Given the description of an element on the screen output the (x, y) to click on. 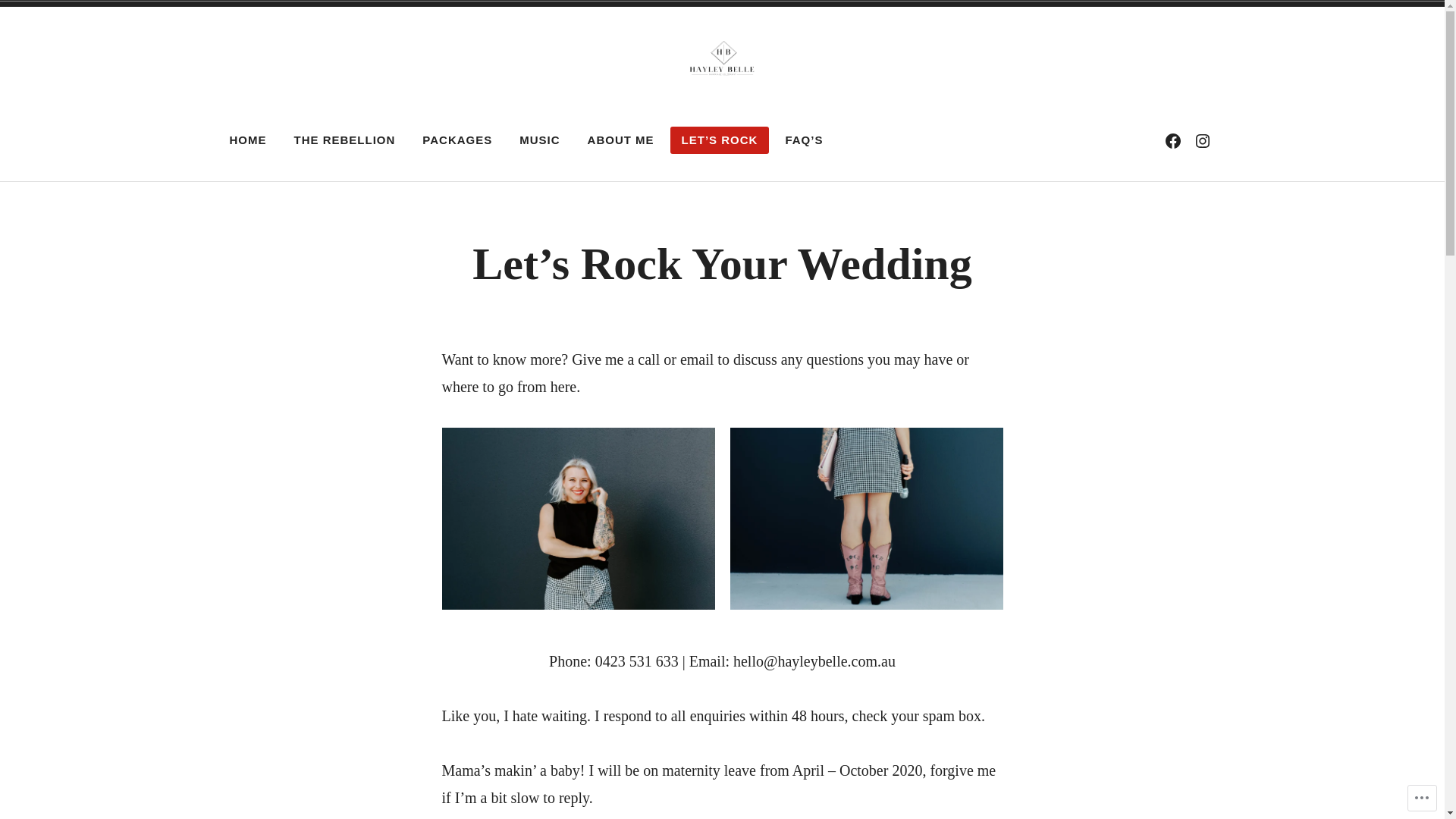
ABOUT ME Element type: text (620, 139)
HOME Element type: text (248, 139)
PACKAGES Element type: text (457, 139)
THE REBELLION Element type: text (344, 139)
MUSIC Element type: text (539, 139)
Hayley Belle Marriage Celebrant Element type: text (551, 122)
